Given the description of an element on the screen output the (x, y) to click on. 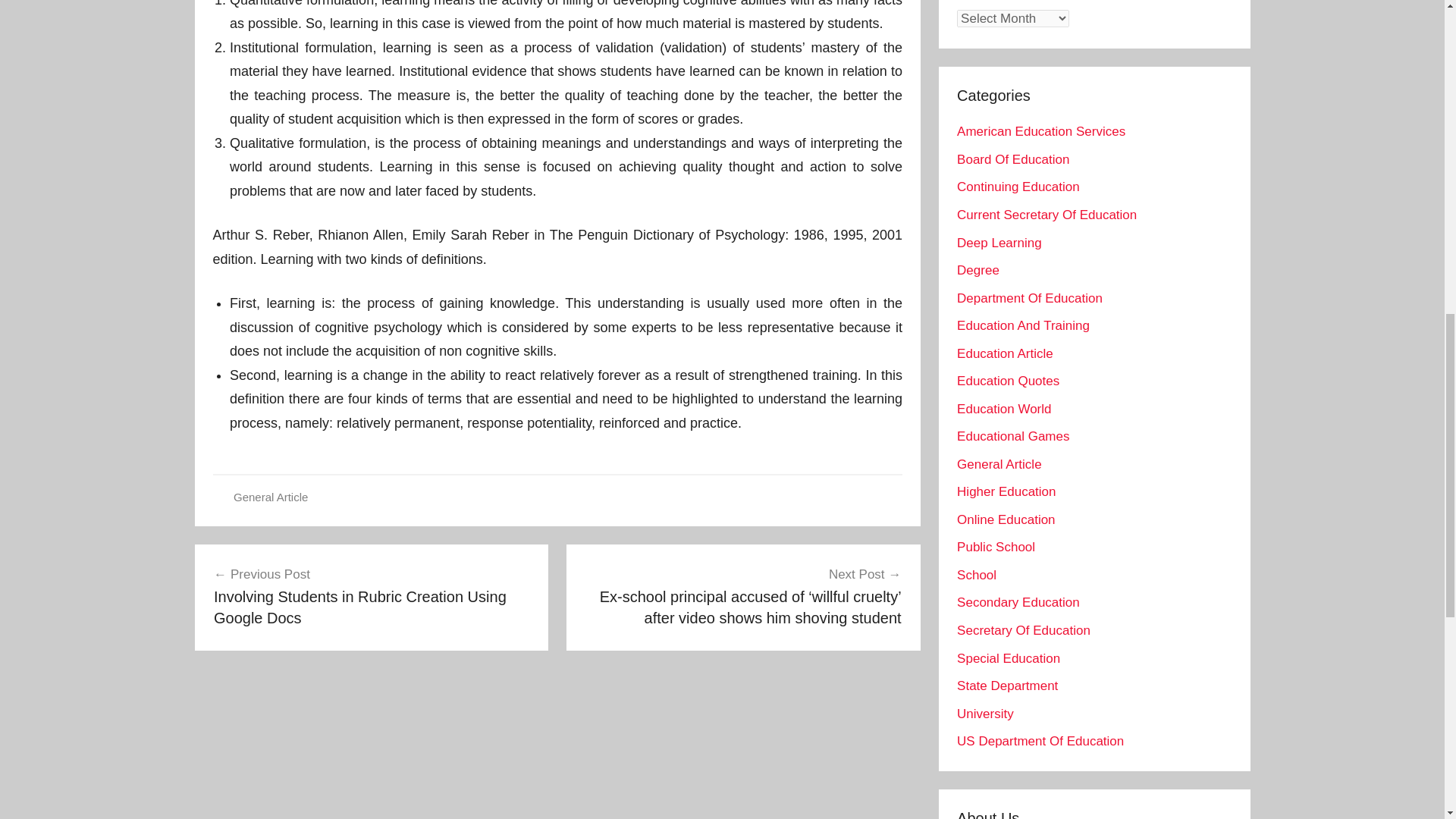
General Article (269, 496)
